Given the description of an element on the screen output the (x, y) to click on. 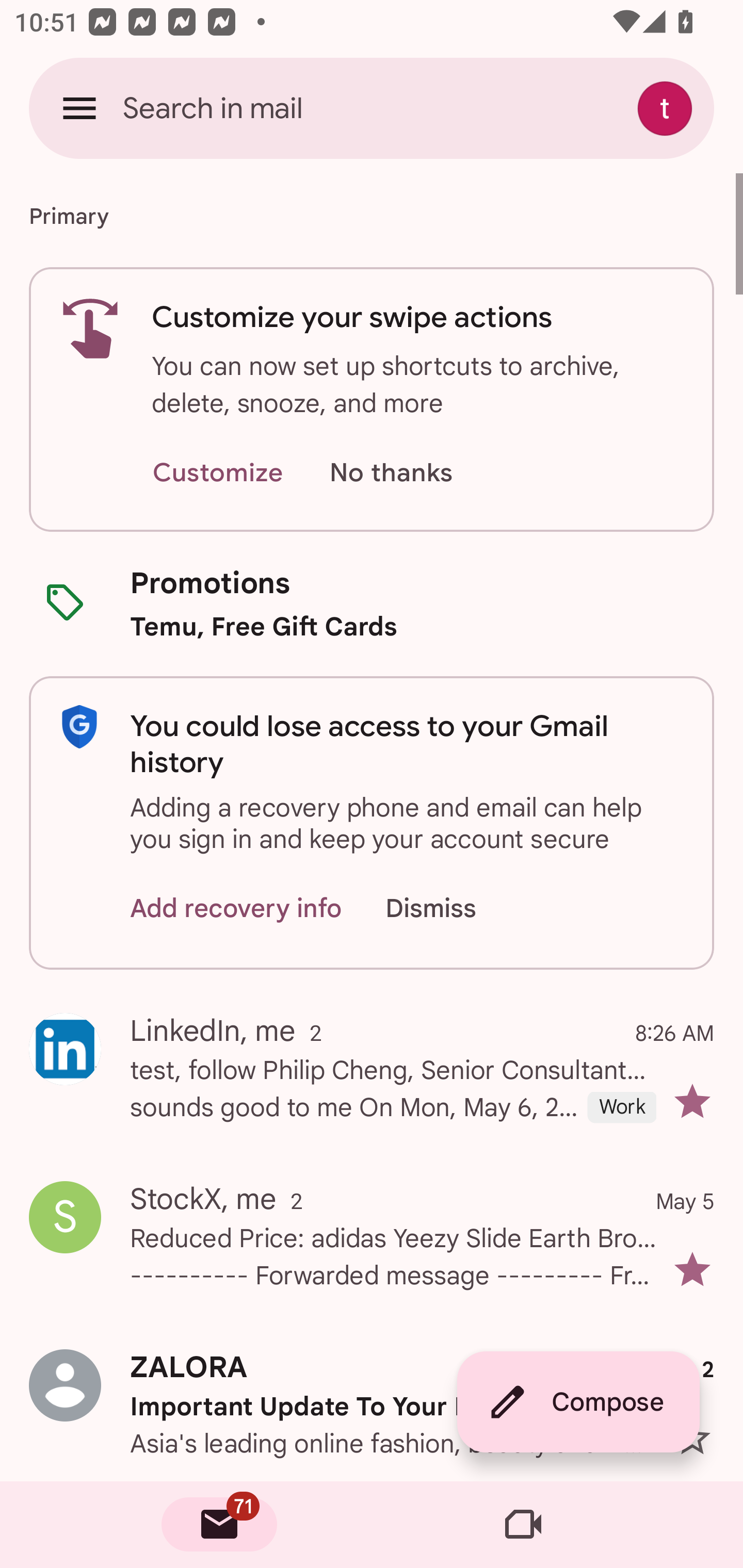
Open navigation drawer (79, 108)
Customize (217, 473)
No thanks (390, 473)
Promotions Temu, Free Gift Cards (371, 603)
Add recovery info (235, 908)
Dismiss (449, 908)
Compose (577, 1401)
Meet (523, 1524)
